Given the description of an element on the screen output the (x, y) to click on. 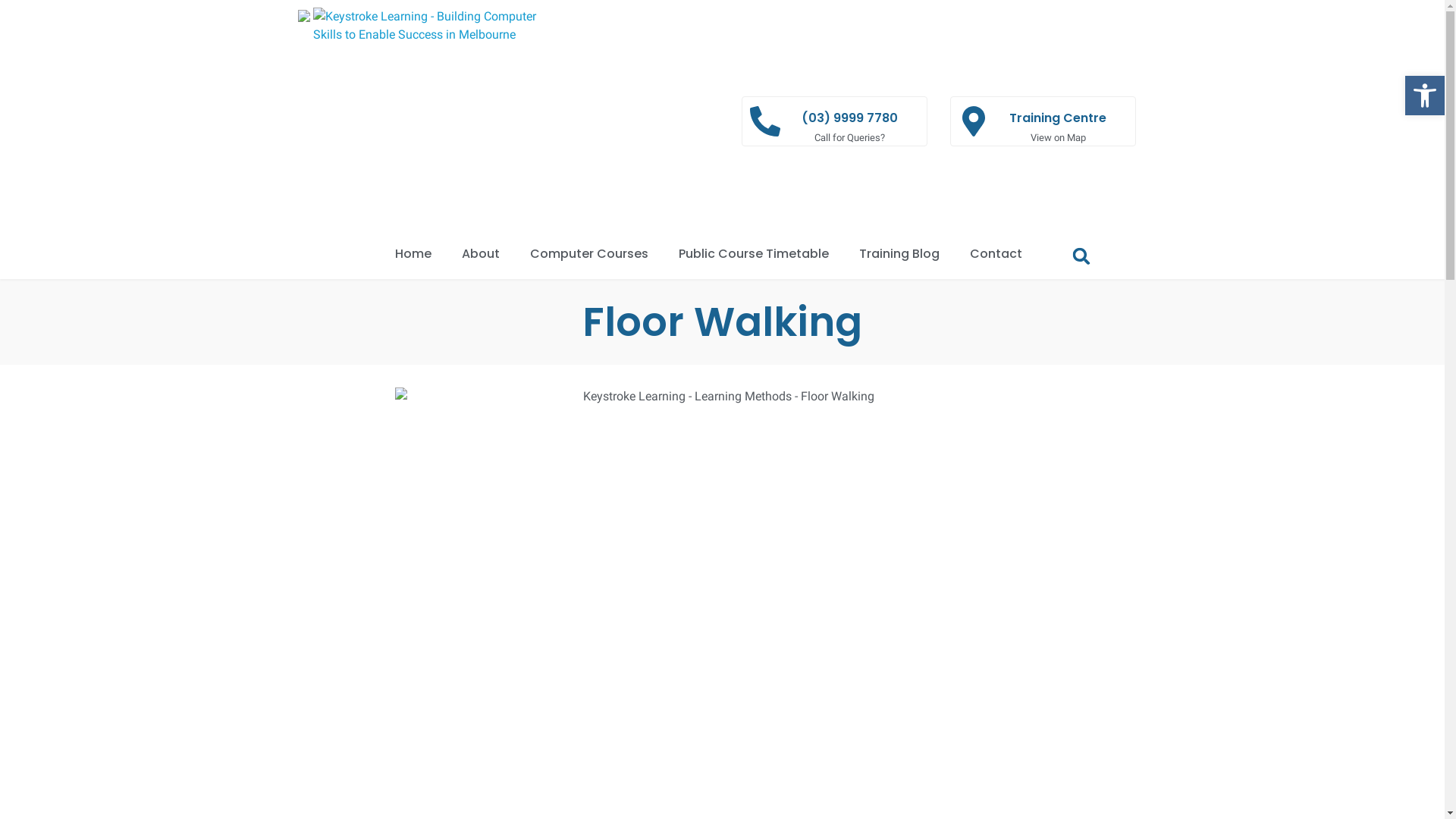
Computer Courses Element type: text (588, 253)
About Element type: text (480, 253)
Home Element type: text (412, 253)
Training Centre Element type: text (1057, 117)
Public Course Timetable Element type: text (753, 253)
Training Blog Element type: text (899, 253)
Contact Element type: text (995, 253)
Open toolbar
Accessibility Tools Element type: text (1424, 95)
(03) 9999 7780 Element type: text (848, 117)
